Given the description of an element on the screen output the (x, y) to click on. 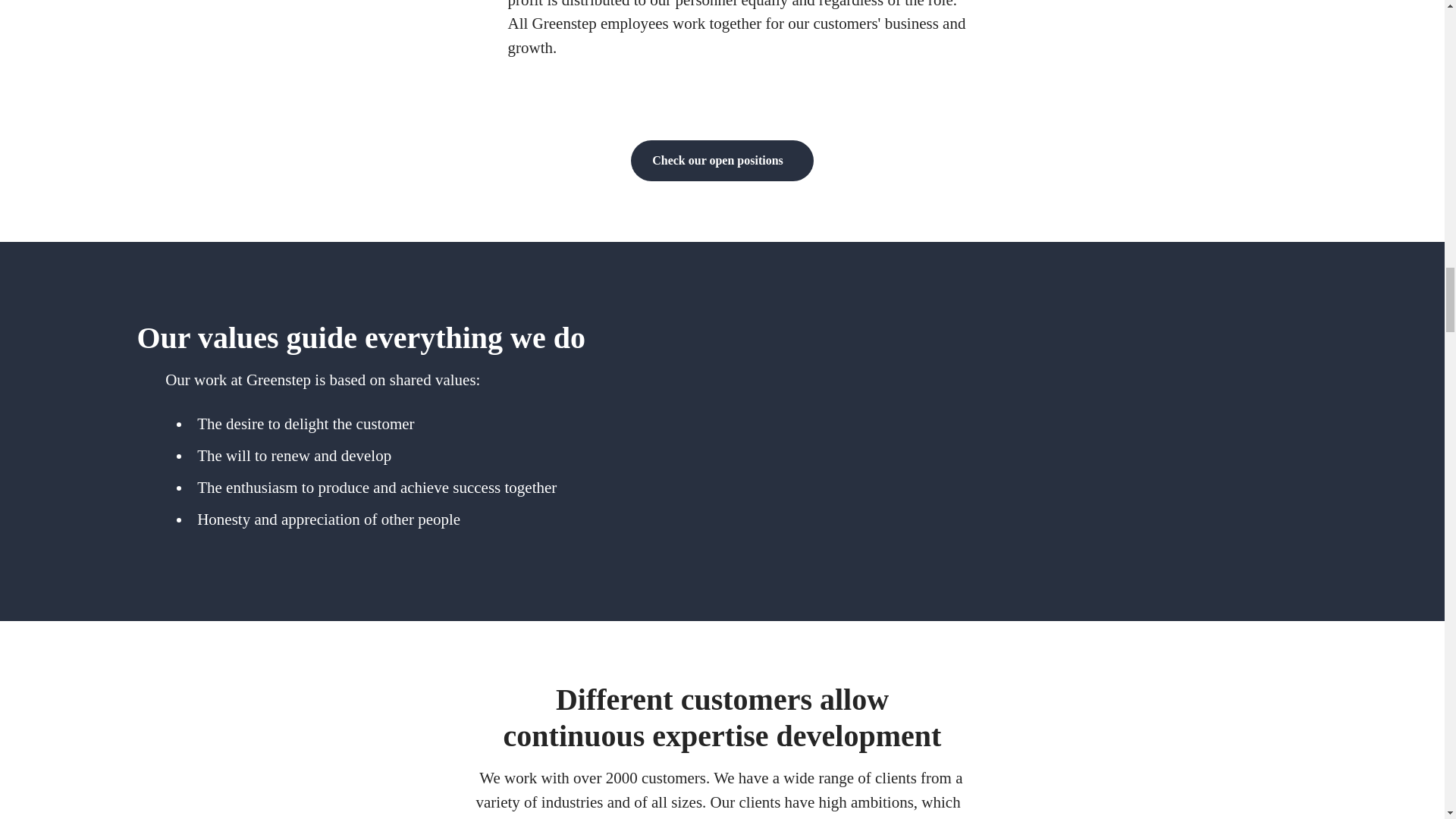
Check our open positions (721, 160)
